Given the description of an element on the screen output the (x, y) to click on. 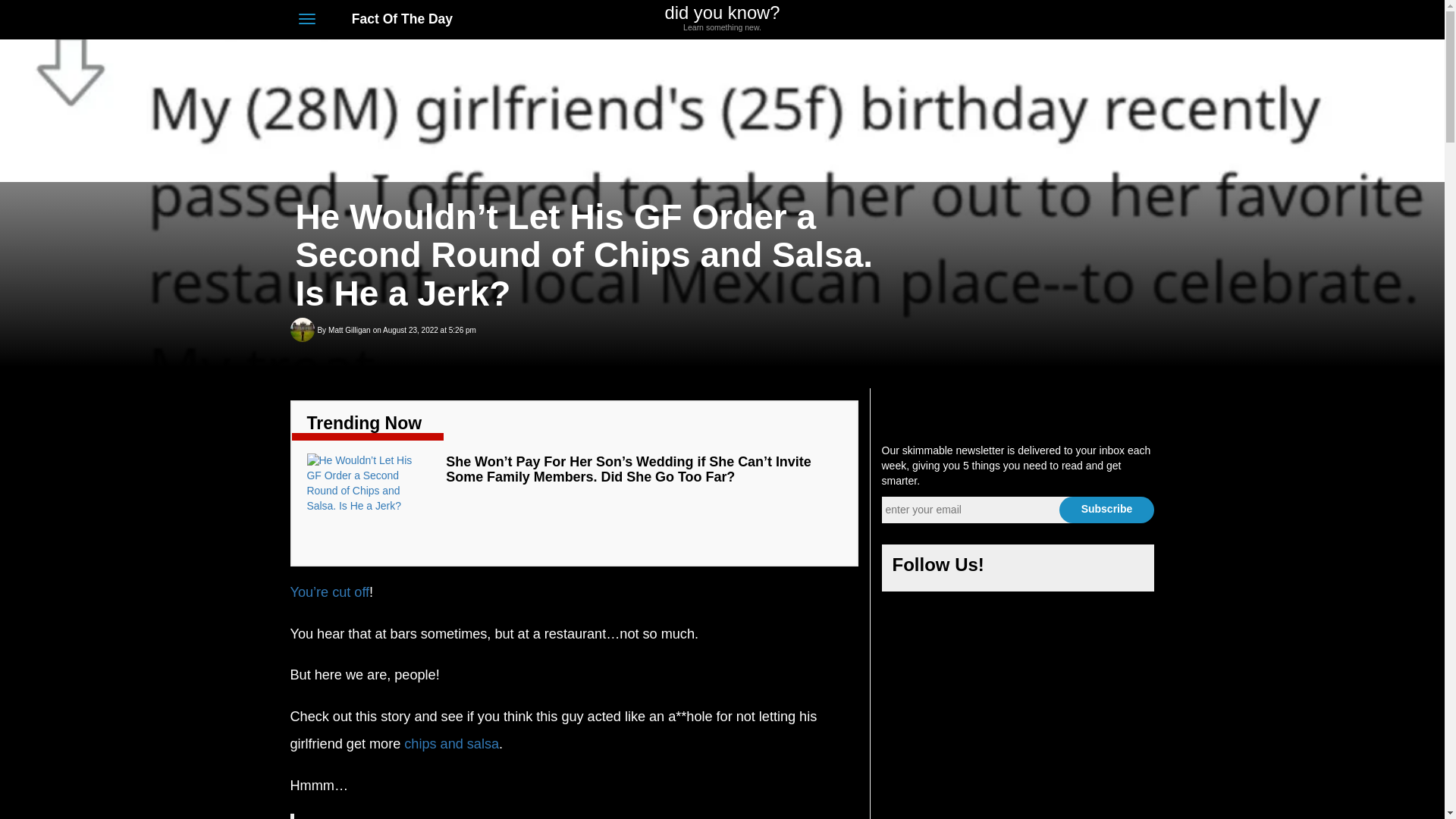
Fact Of The Day (393, 18)
chips and salsa (451, 743)
Facebook (1018, 569)
Instagram (1091, 20)
Instagram (1091, 569)
Matt Gilligan (349, 330)
Tumblr (1127, 569)
Posts by Matt Gilligan (349, 330)
Tumblr (1119, 20)
Toggle navigation (306, 18)
Twitter (1054, 569)
Subscribe (1106, 509)
Twitter (722, 18)
